Given the description of an element on the screen output the (x, y) to click on. 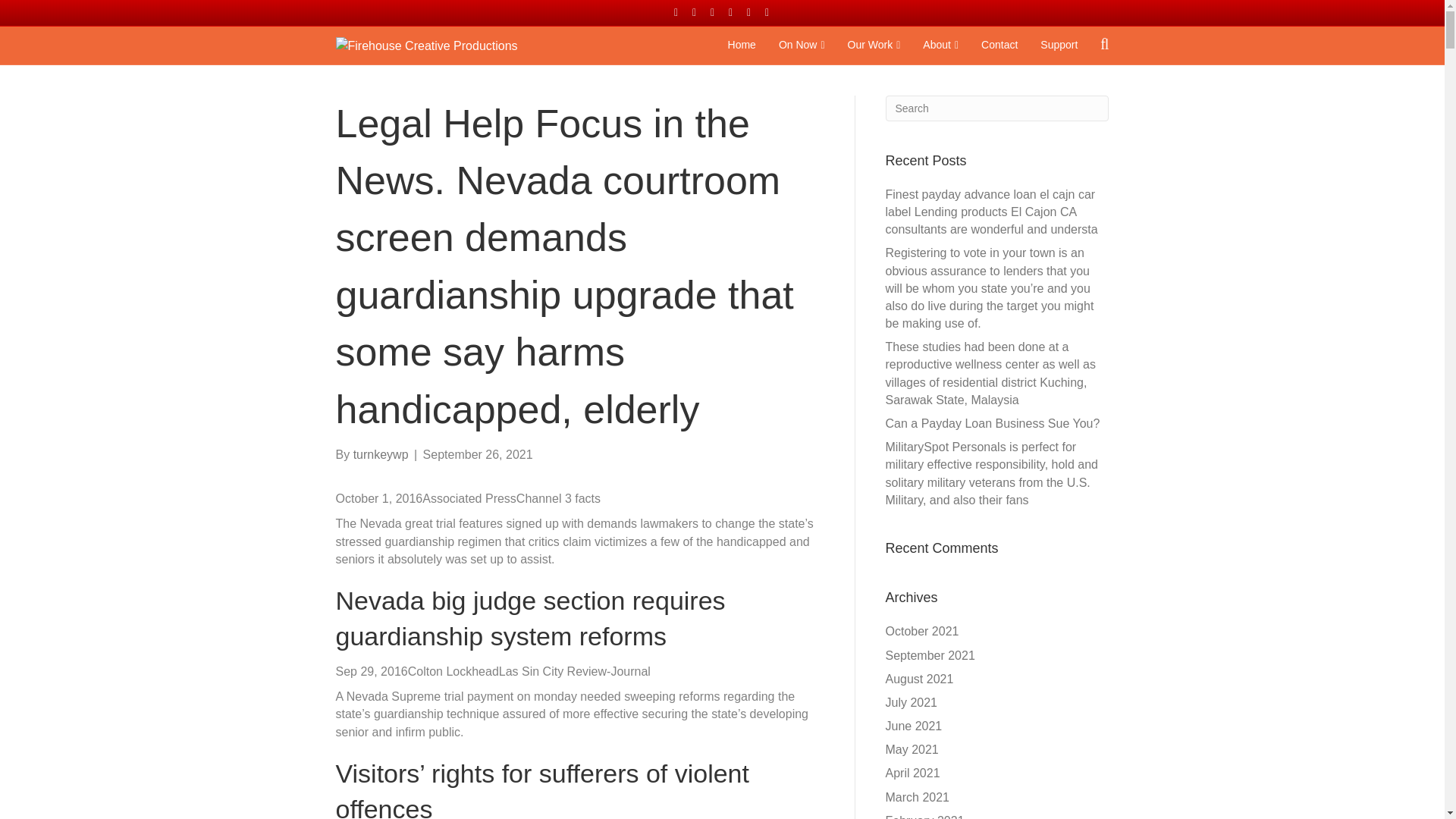
Search (997, 108)
On Now (801, 45)
Type and press Enter to search. (997, 108)
Our Work (873, 45)
Home (741, 45)
Search (997, 108)
